Given the description of an element on the screen output the (x, y) to click on. 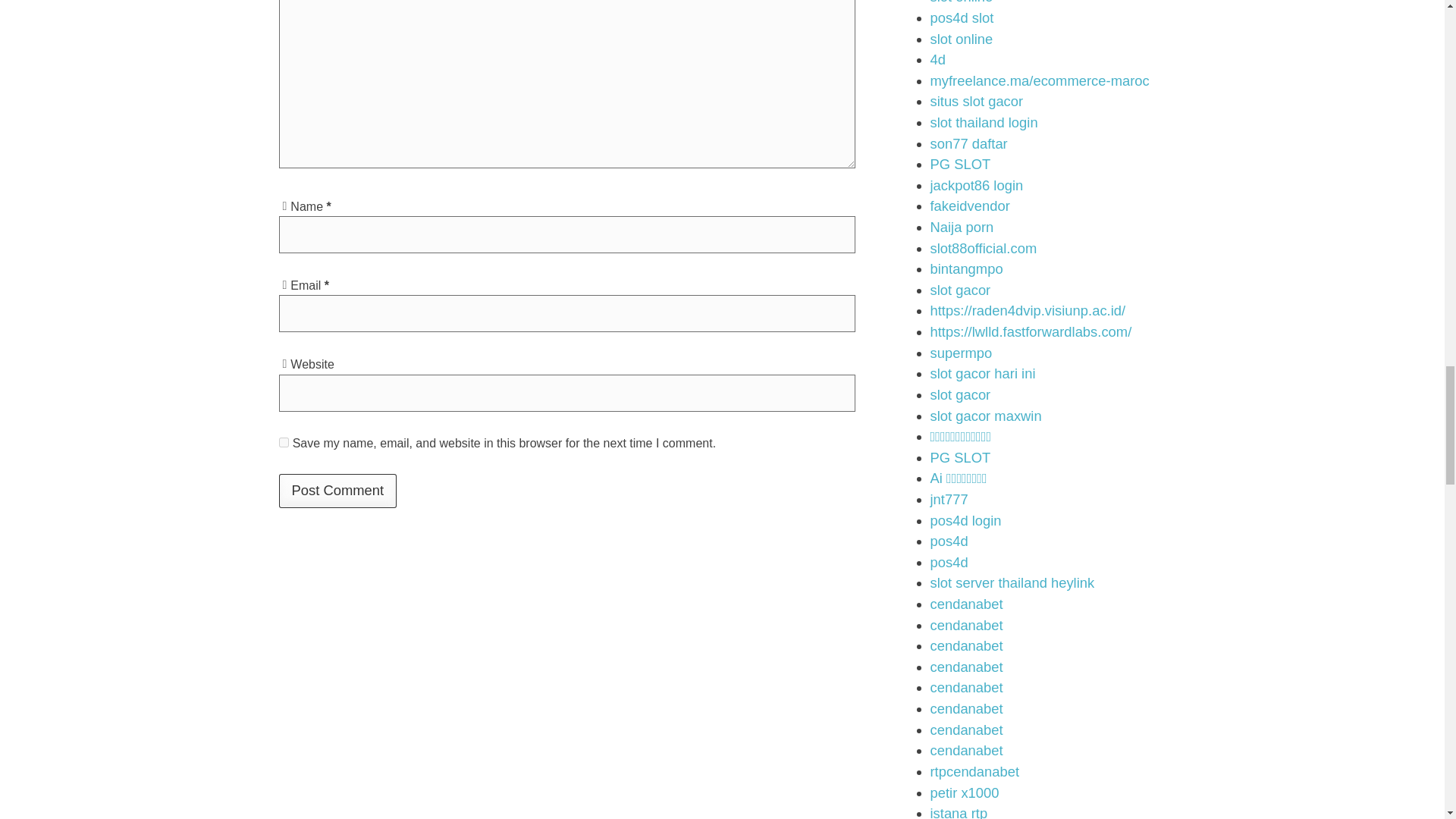
Post Comment (338, 490)
yes (283, 442)
Post Comment (338, 490)
